Given the description of an element on the screen output the (x, y) to click on. 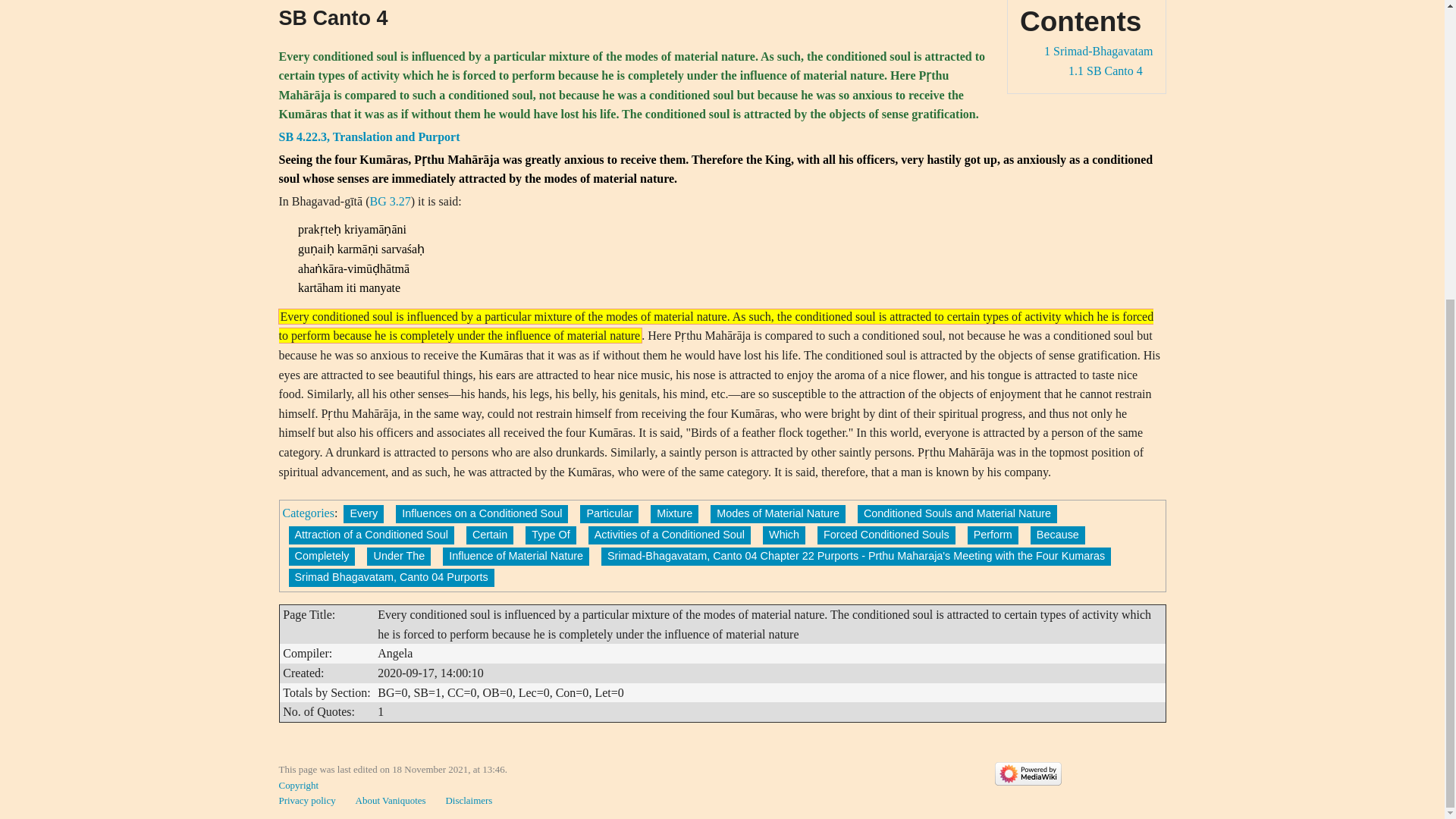
vanisource:SB 4.22.3 (369, 136)
